Given the description of an element on the screen output the (x, y) to click on. 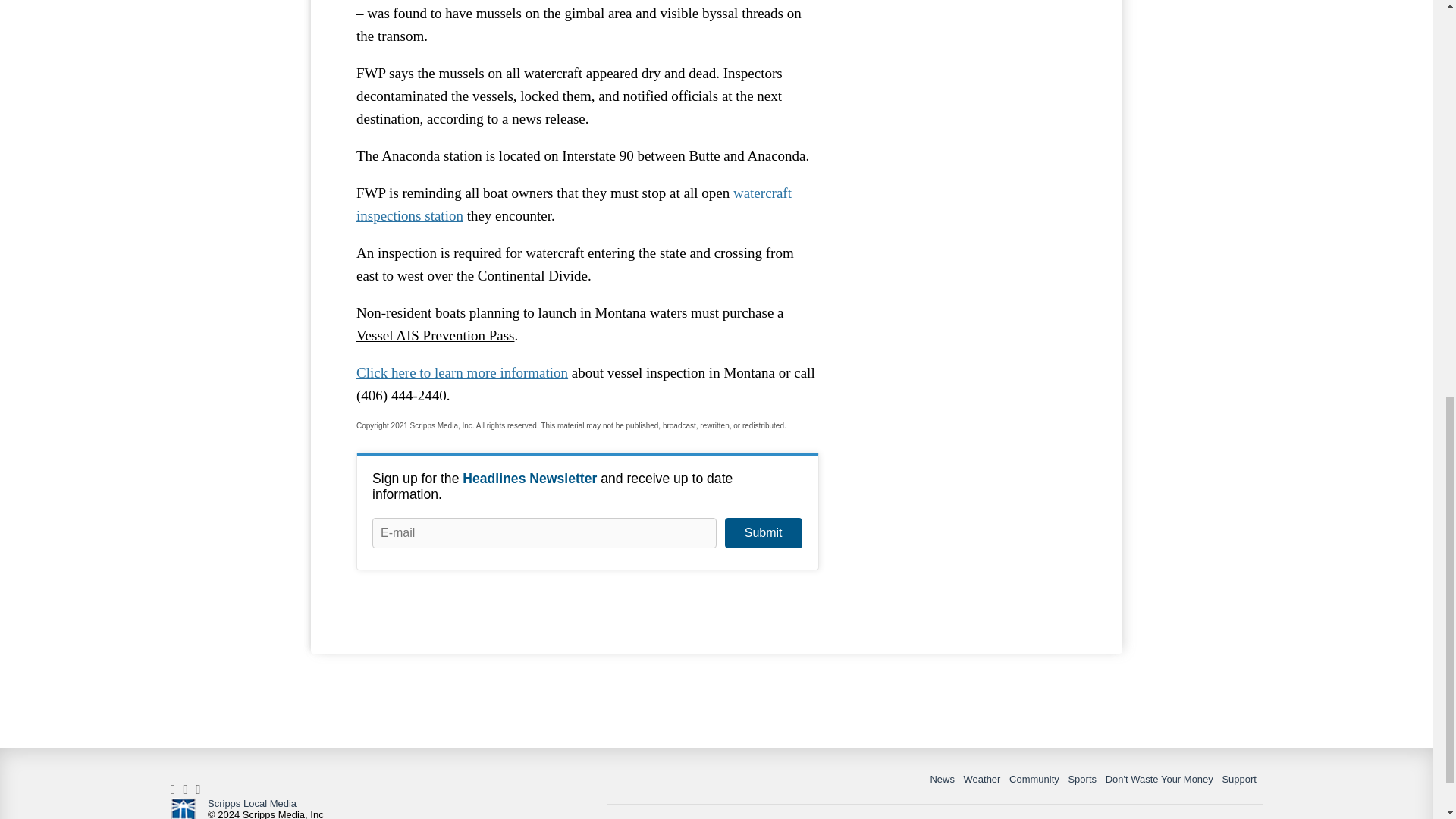
Submit (763, 532)
